Given the description of an element on the screen output the (x, y) to click on. 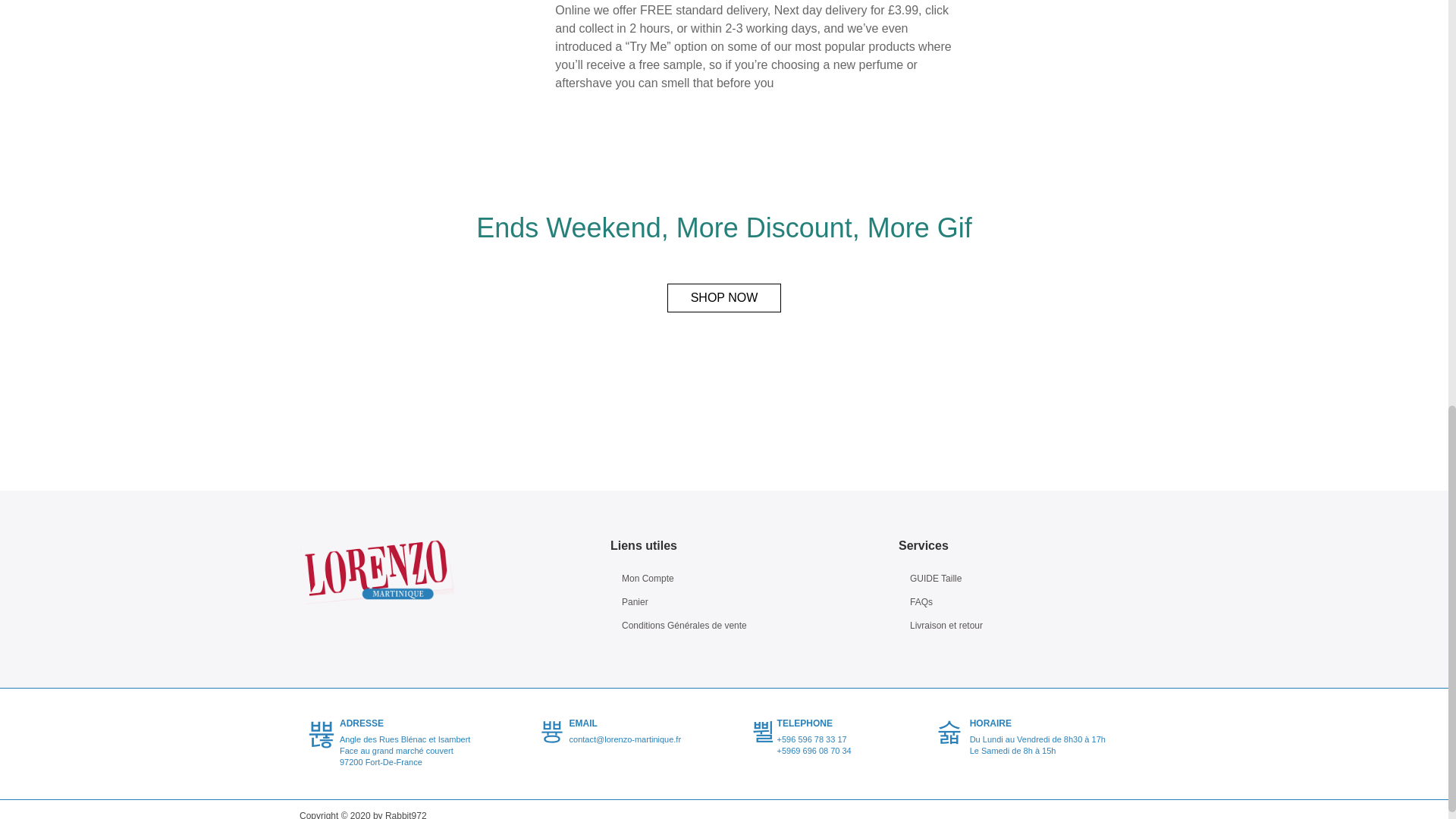
GUIDE Taille (1016, 578)
FAQs (1016, 602)
Livraison et retour (1016, 626)
SHOP NOW (723, 297)
Mon Compte (735, 578)
Panier (735, 602)
